Given the description of an element on the screen output the (x, y) to click on. 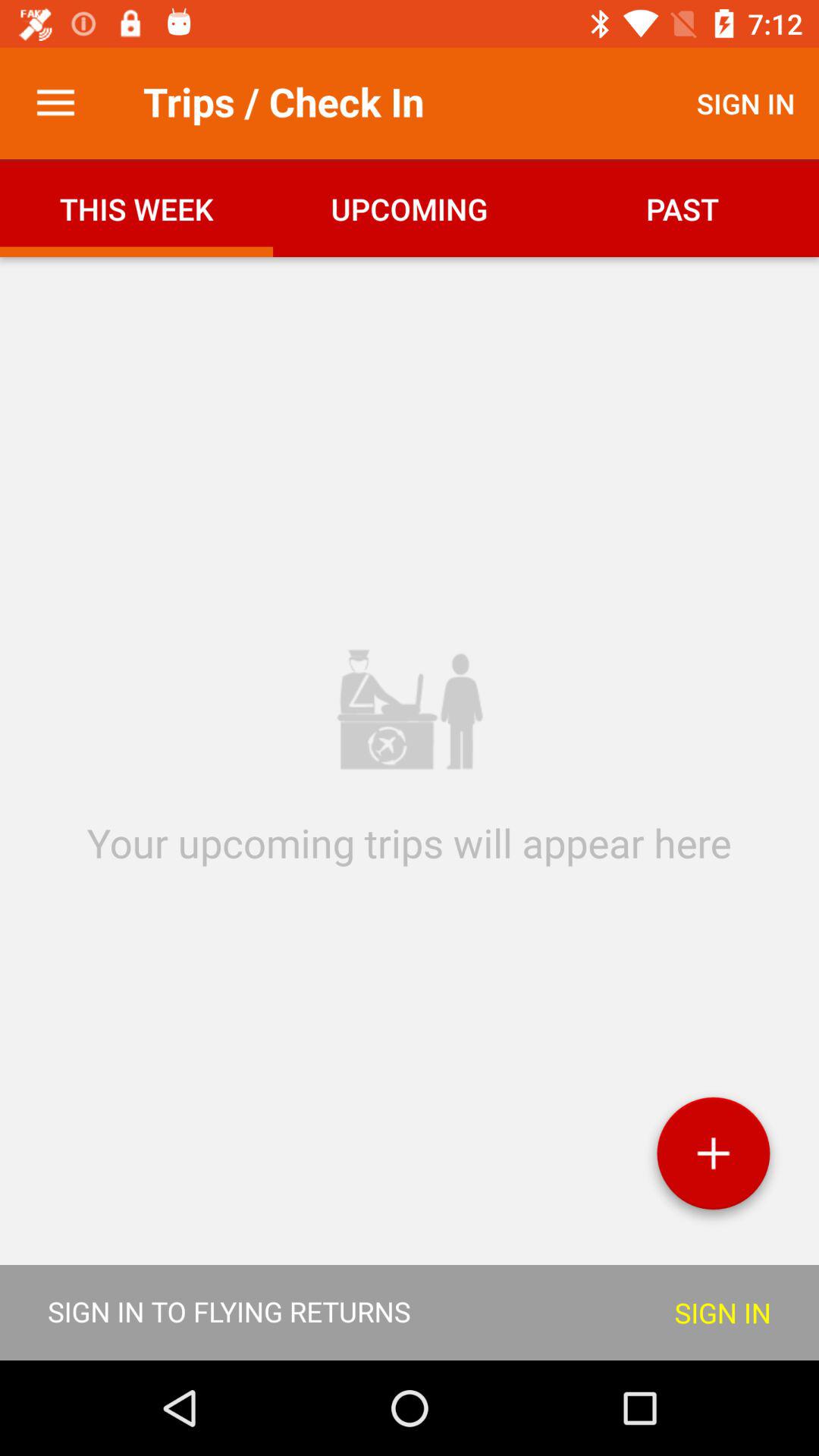
choose icon below the your upcoming trips icon (713, 1159)
